Given the description of an element on the screen output the (x, y) to click on. 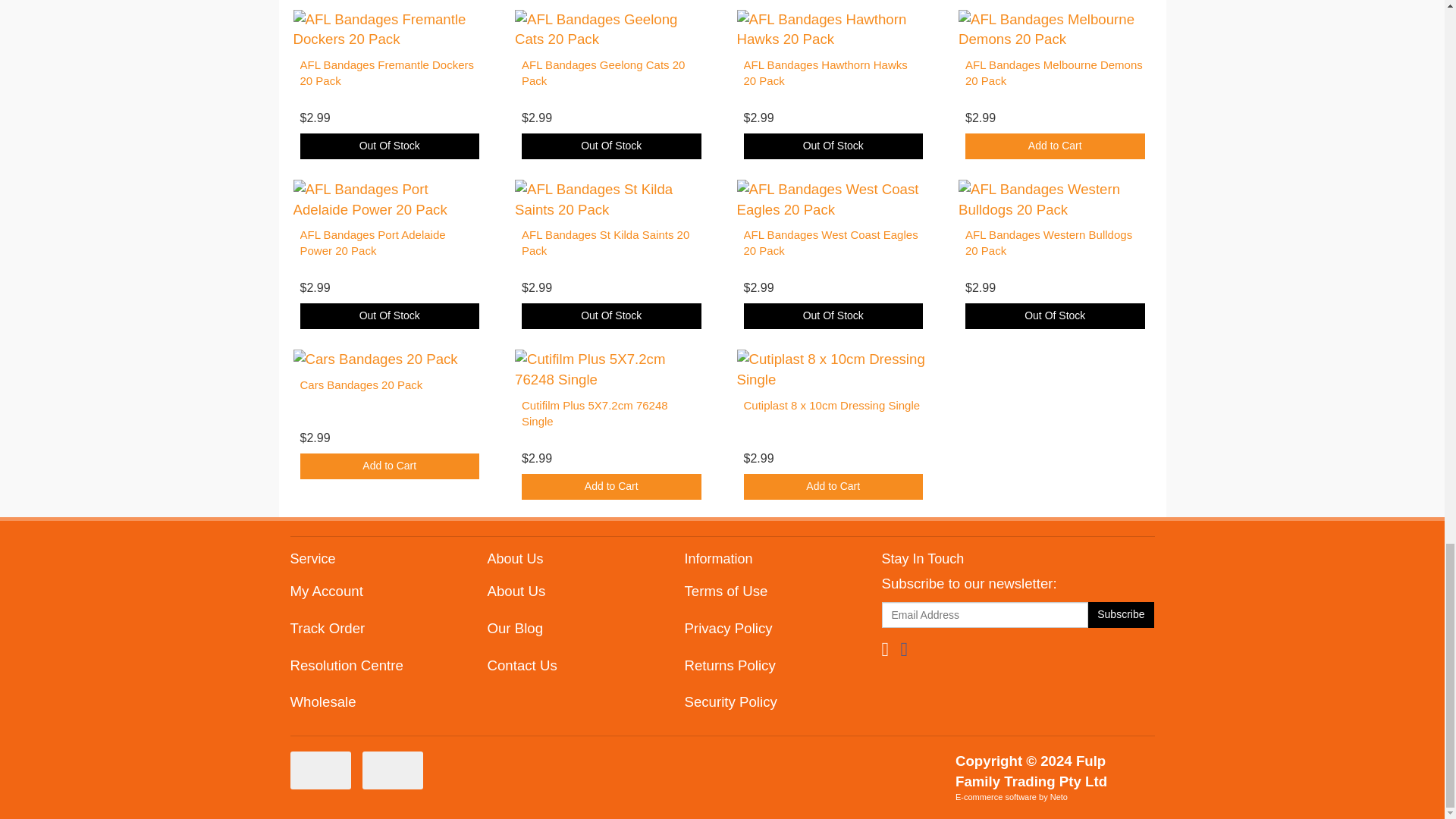
Notify Me When Back In Stock (389, 145)
AFL Bandages Geelong Cats 20 Pack (602, 72)
Add to Cart (1054, 145)
Subscribe (1120, 614)
Notify Me When Back In Stock (611, 145)
AFL Bandages Melbourne Demons 20 Pack (1053, 72)
AFL Bandages Hawthorn Hawks 20 Pack (824, 72)
Notify Me When Back In Stock (832, 145)
AFL Bandages Port Adelaide Power 20 Pack (372, 242)
AFL Bandages Fremantle Dockers 20 Pack (386, 72)
